Given the description of an element on the screen output the (x, y) to click on. 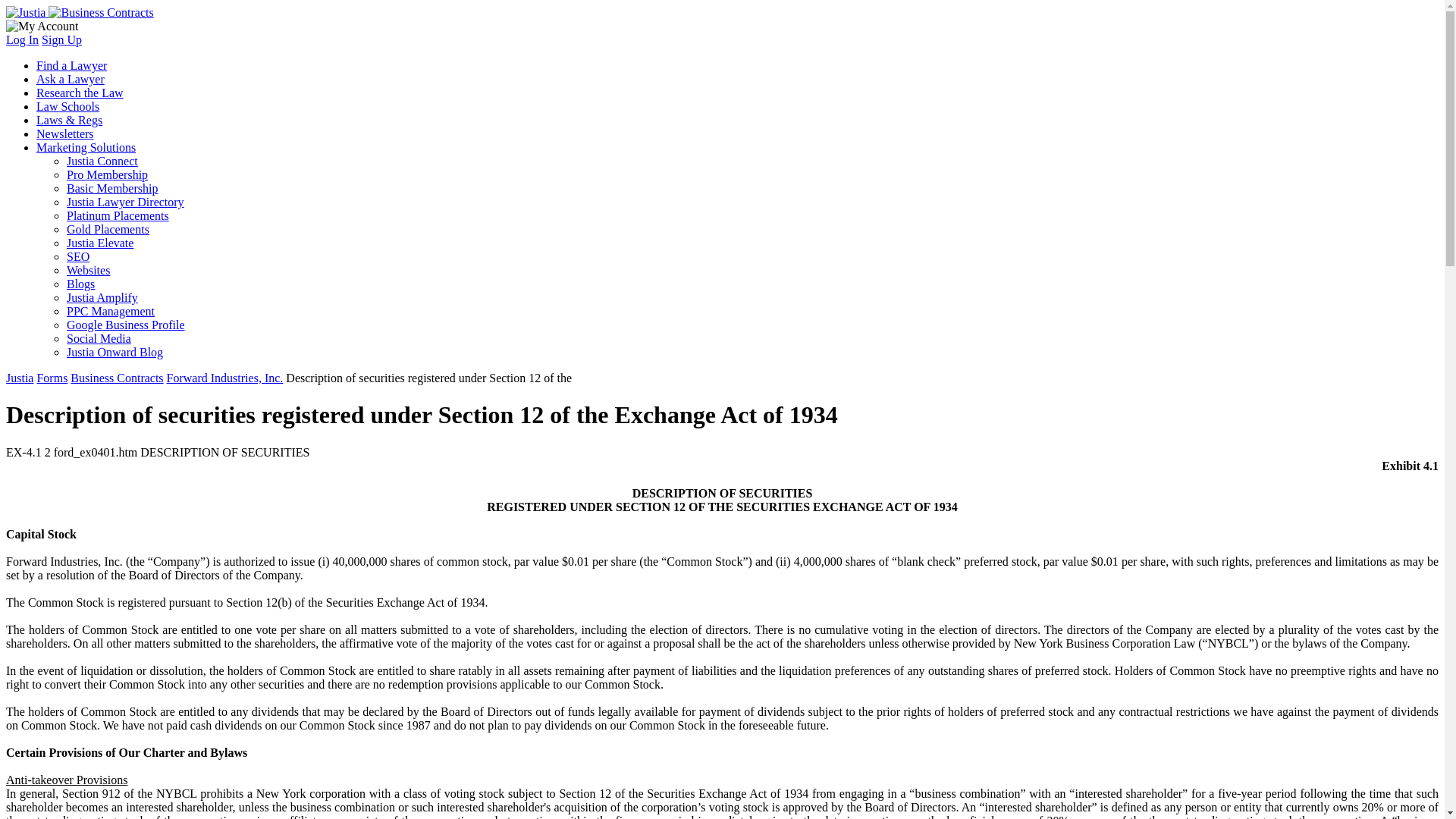
Google Business Profile (125, 324)
SEO (77, 256)
Justia Lawyer Directory (125, 201)
Pro Membership (107, 174)
Law Schools (67, 106)
PPC Management (110, 310)
Websites (88, 269)
Newsletters (65, 133)
Marketing Solutions (85, 146)
Log In (22, 39)
Ask a Lawyer (70, 78)
Justia Elevate (99, 242)
Justia (19, 377)
Justia Amplify (102, 297)
Forms (51, 377)
